Given the description of an element on the screen output the (x, y) to click on. 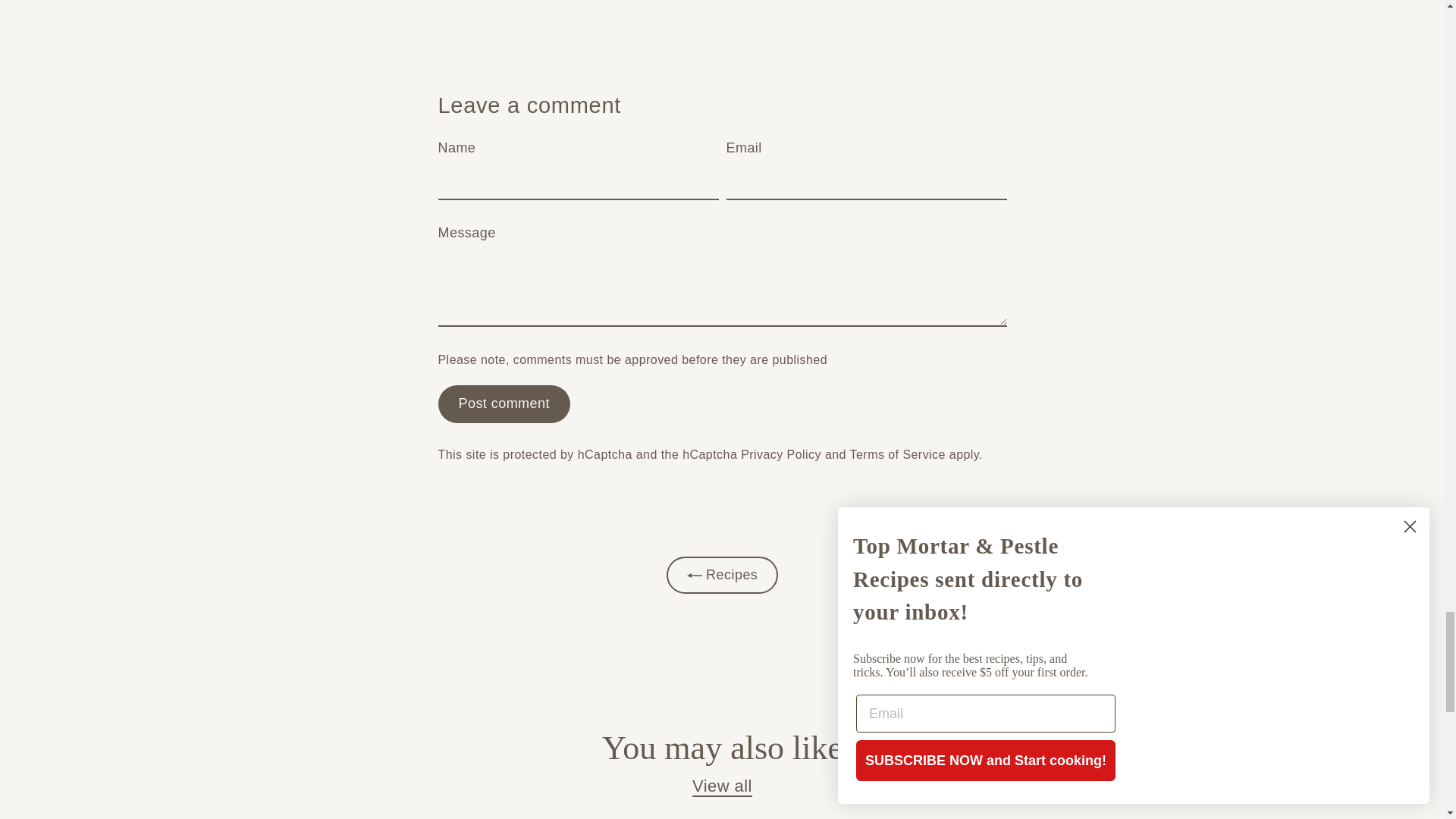
Privacy Policy (781, 453)
Post comment (504, 403)
Post comment (504, 403)
